Given the description of an element on the screen output the (x, y) to click on. 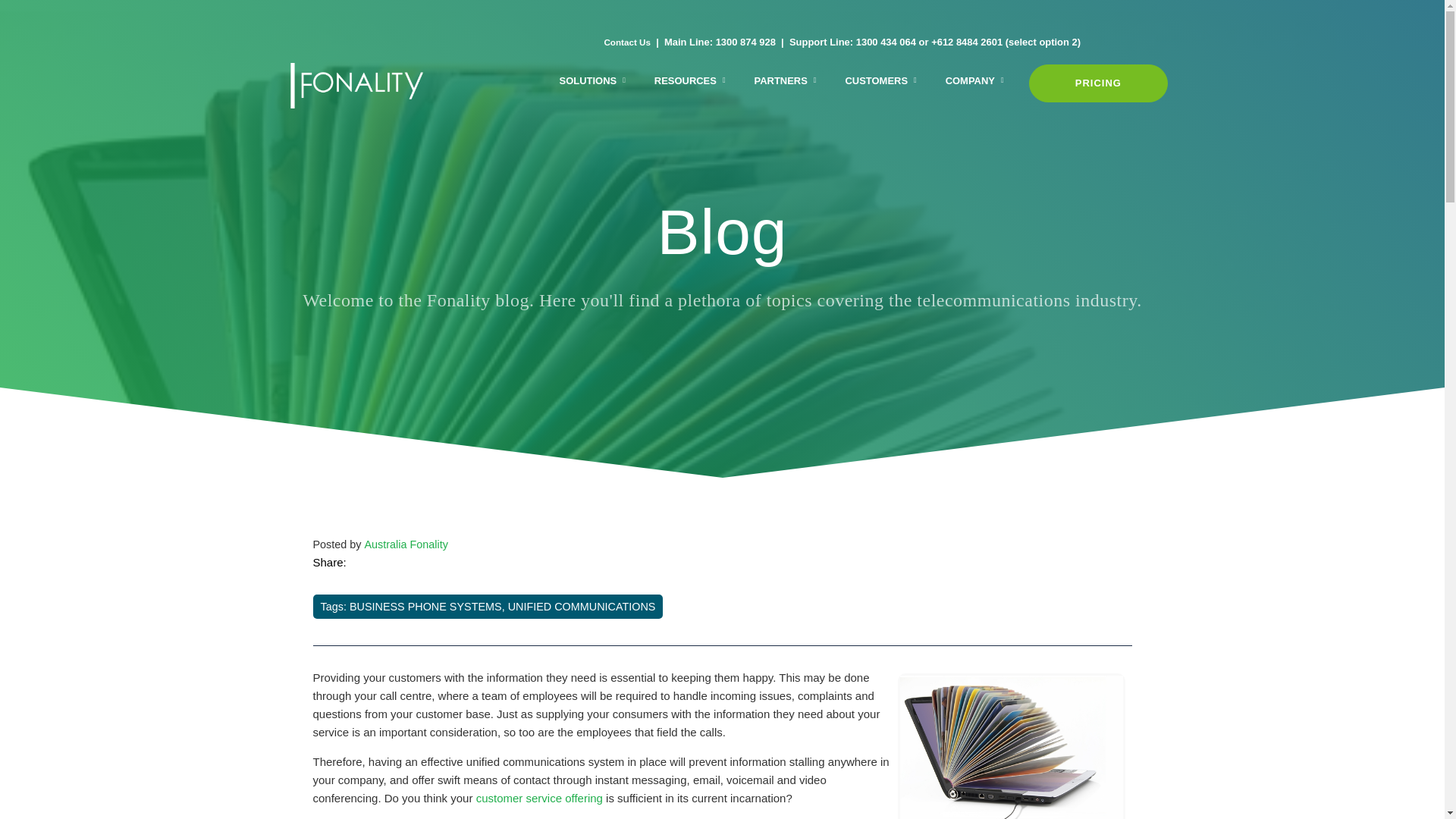
+612 8484 2601 Element type: text (966, 41)
Australia Fonality Element type: text (405, 544)
PARTNERS Element type: text (785, 81)
BUSINESS PHONE SYSTEMS Element type: text (425, 606)
CUSTOMERS Element type: text (881, 81)
SOLUTIONS Element type: text (592, 81)
UNIFIED COMMUNICATIONS Element type: text (581, 606)
1300 874 928 Element type: text (745, 41)
1300 434 064 Element type: text (886, 41)
RESOURCES Element type: text (690, 81)
COMPANY Element type: text (974, 81)
PRICING Element type: text (1098, 83)
customer service offering Element type: text (539, 797)
Contact Us Element type: text (626, 42)
Fonality | Business. Communications. Simplified. Element type: hover (389, 85)
